Given the description of an element on the screen output the (x, y) to click on. 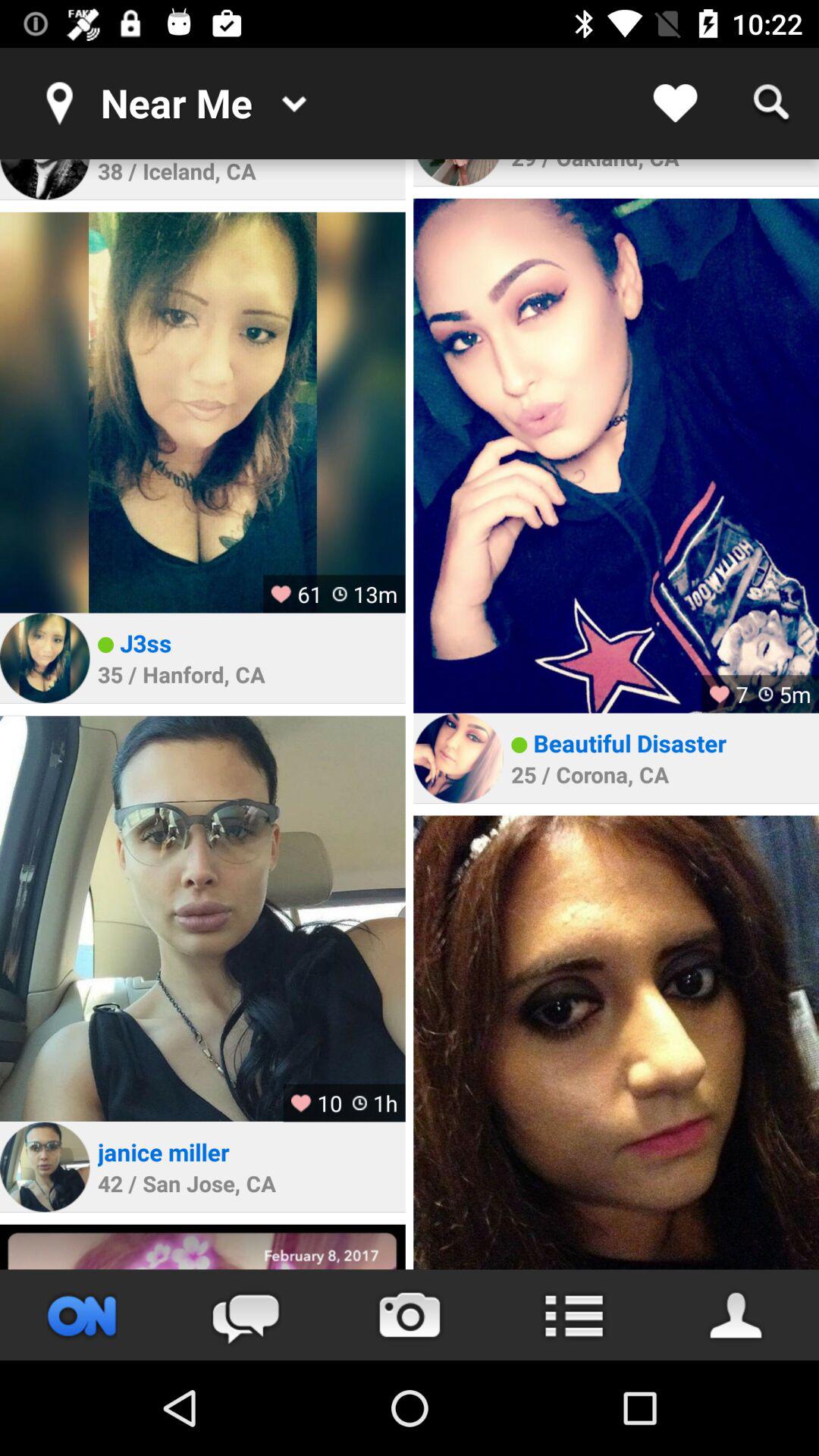
profile page (737, 1315)
